Given the description of an element on the screen output the (x, y) to click on. 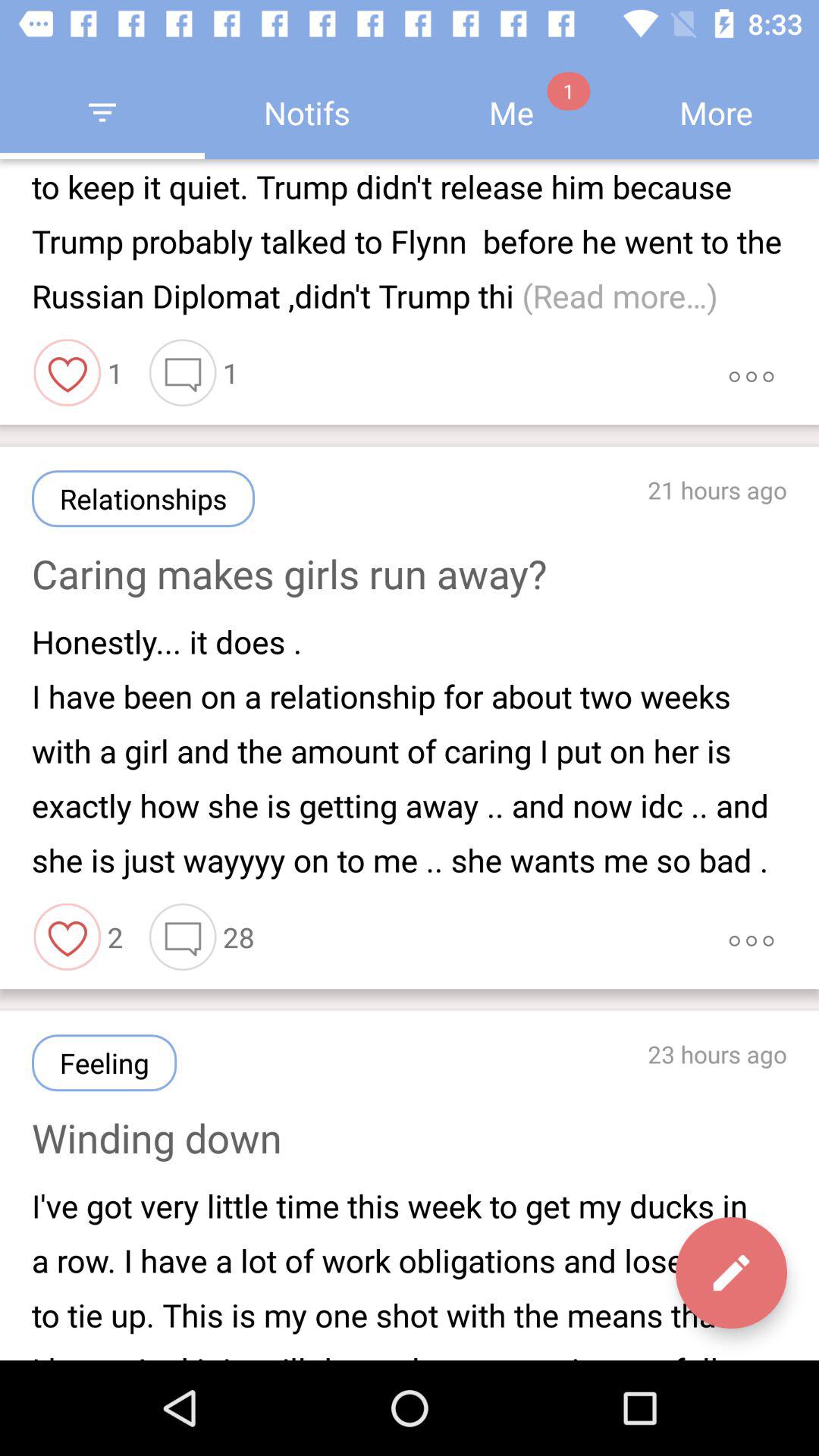
turn off the item above the winding down item (103, 1062)
